Given the description of an element on the screen output the (x, y) to click on. 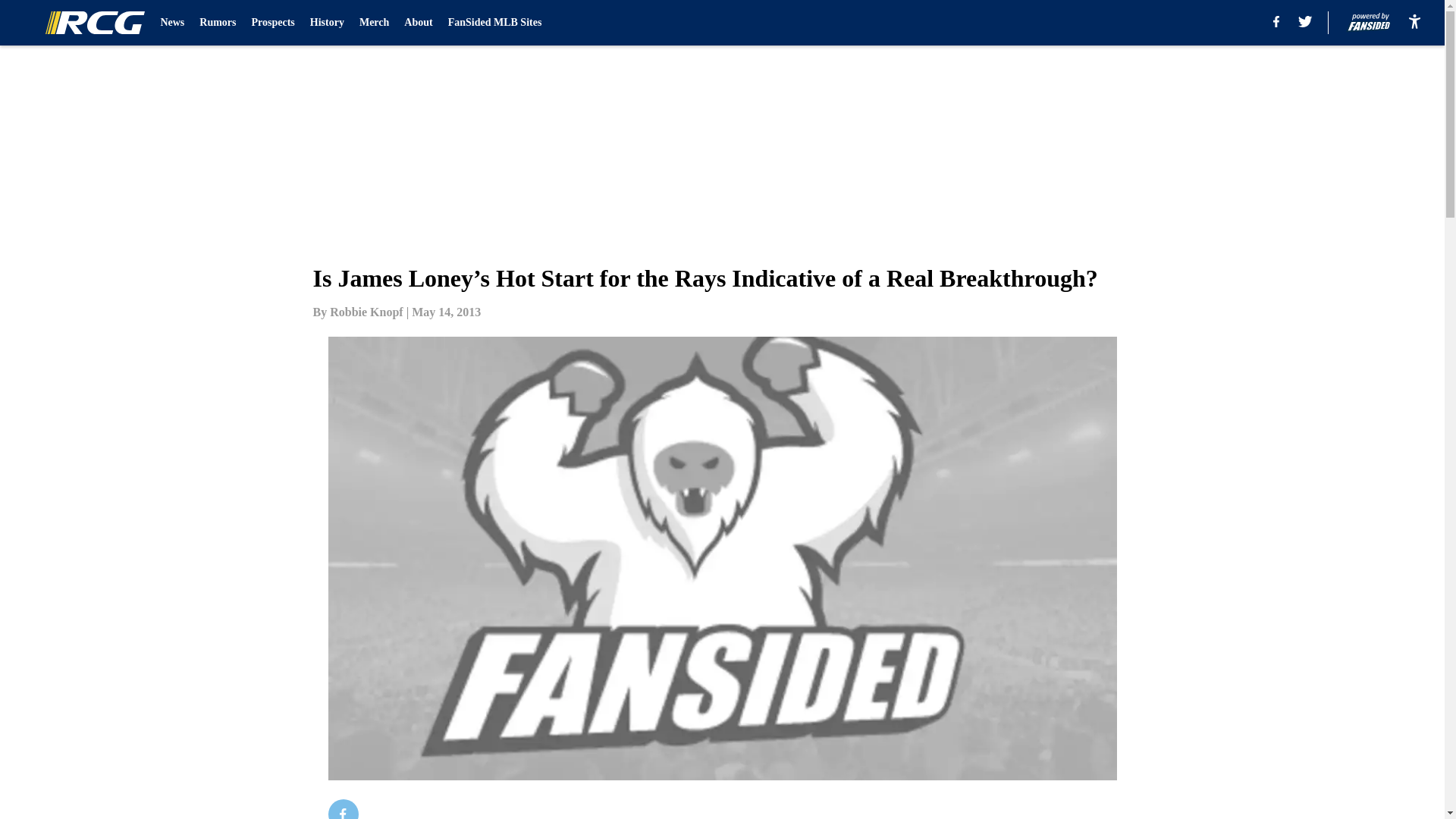
News (172, 22)
FanSided MLB Sites (494, 22)
About (418, 22)
Merch (373, 22)
Prospects (273, 22)
History (326, 22)
Rumors (217, 22)
